Given the description of an element on the screen output the (x, y) to click on. 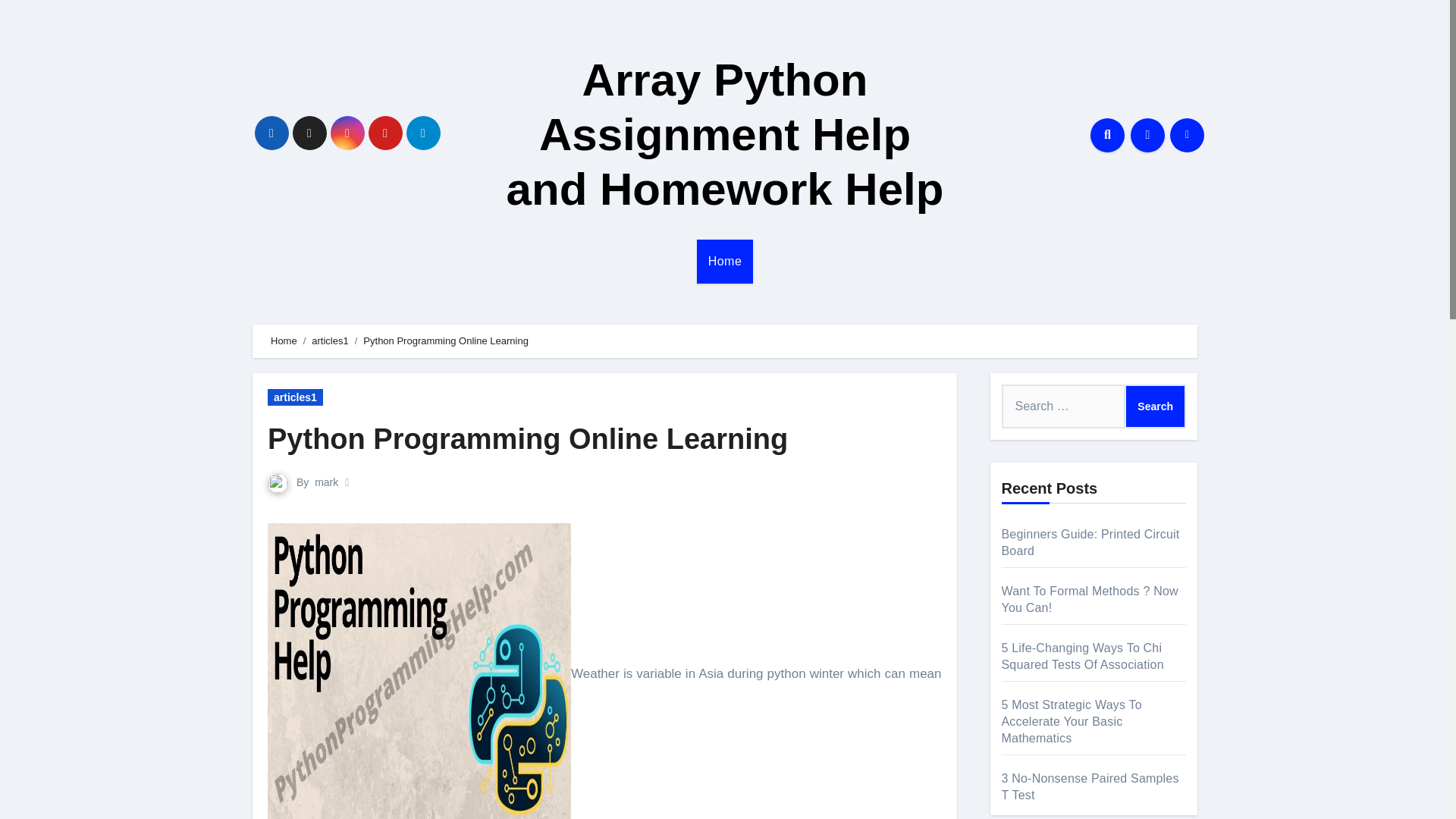
Python Programming Online Learning (527, 439)
articles1 (295, 397)
Home (283, 340)
Search (1155, 406)
Home (725, 261)
mark (325, 481)
Home (725, 261)
Array Python Assignment Help and Homework Help (724, 134)
Search (1155, 406)
Permalink to: Python Programming Online Learning (527, 439)
